Given the description of an element on the screen output the (x, y) to click on. 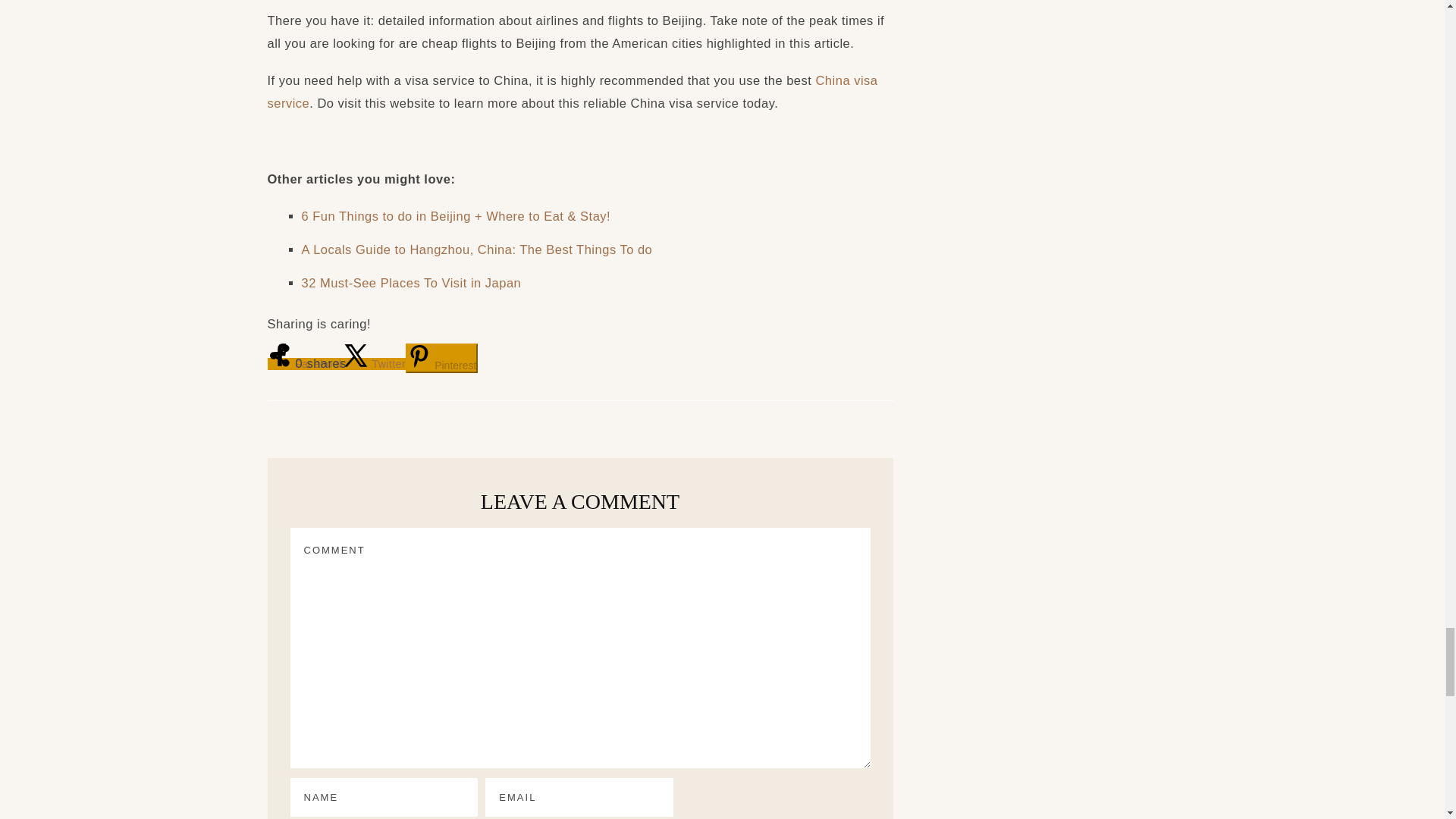
Pinterest (441, 358)
Facebook (304, 363)
Twitter (374, 363)
Share on Facebook (304, 363)
China visa service (571, 91)
Save to Pinterest (441, 358)
A Locals Guide to Hangzhou, China: The Best Things To do (476, 249)
Share on X (374, 363)
32 Must-See Places To Visit in Japan (411, 282)
